Given the description of an element on the screen output the (x, y) to click on. 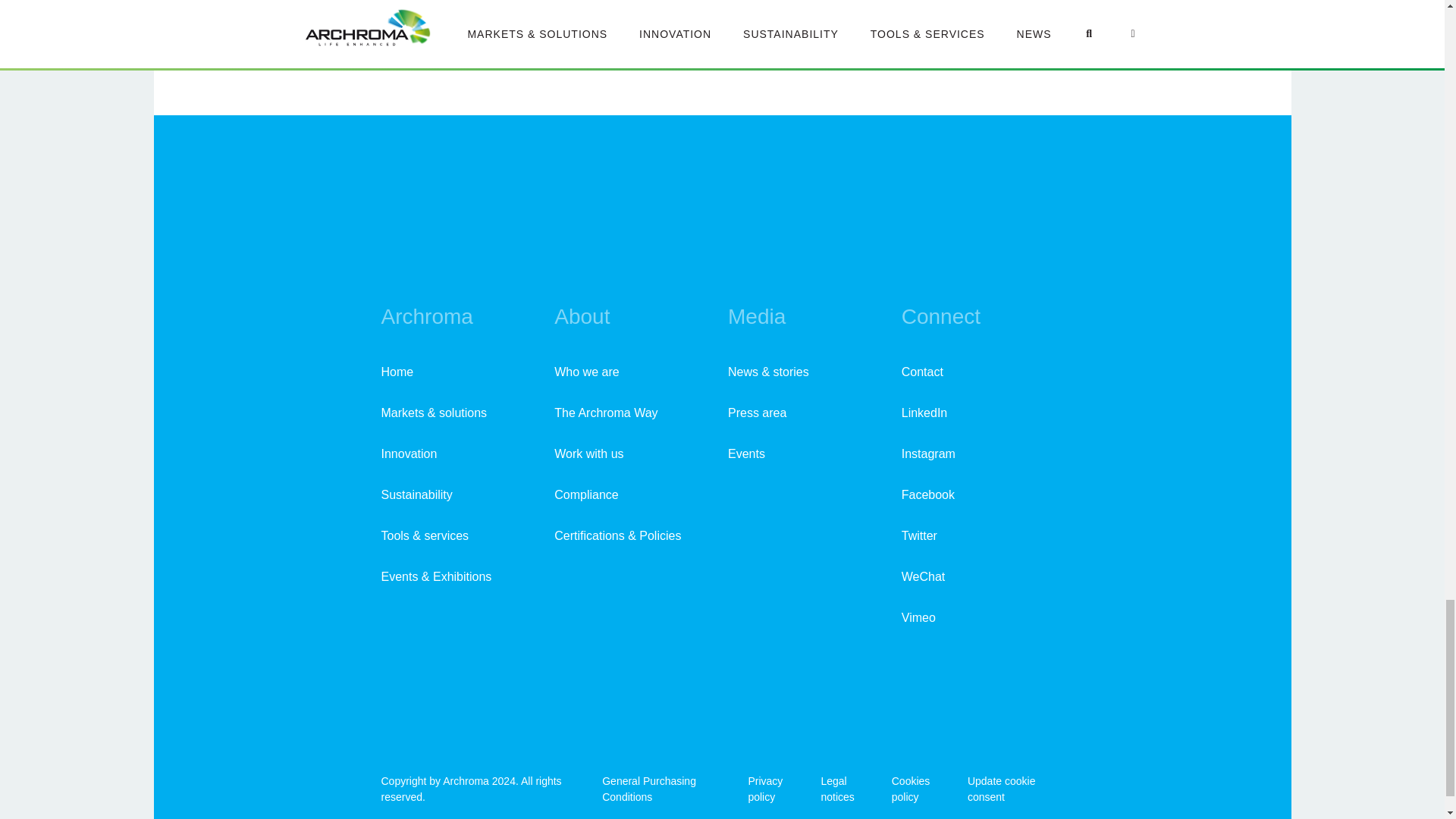
LinkedIn (924, 412)
Who we are (586, 371)
The Archroma Way (606, 412)
Instagram (928, 453)
Contact (922, 371)
Sustainability (415, 494)
Innovation (408, 453)
Home (396, 371)
Events (746, 453)
Work with us (588, 453)
Press area (757, 412)
Compliance (585, 494)
